Given the description of an element on the screen output the (x, y) to click on. 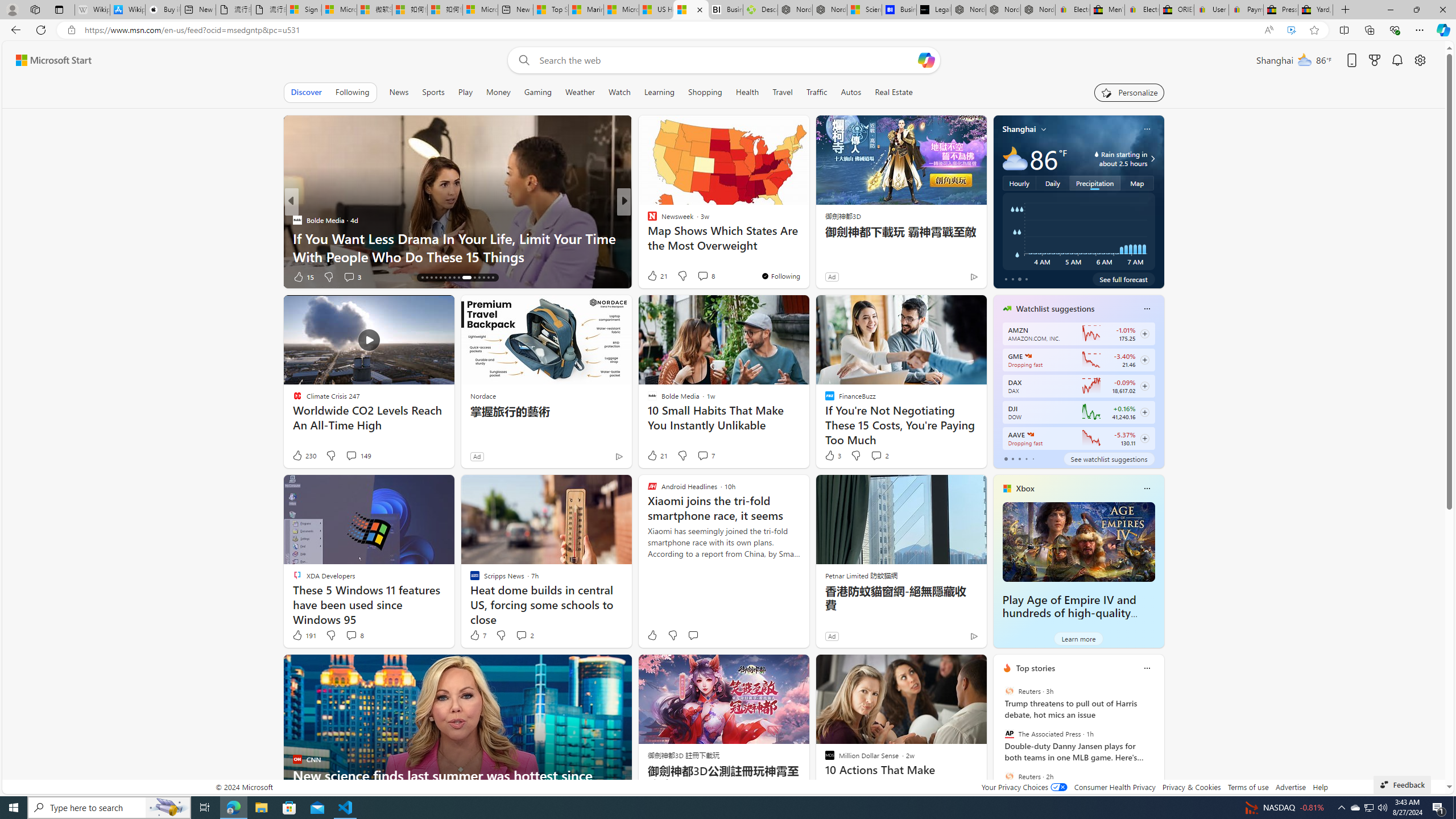
Mostly cloudy (1014, 158)
Shopping (705, 92)
View comments 265 Comment (703, 276)
Shopping (705, 92)
AutomationID: tab-22 (449, 277)
SlashGear (647, 238)
